Given the description of an element on the screen output the (x, y) to click on. 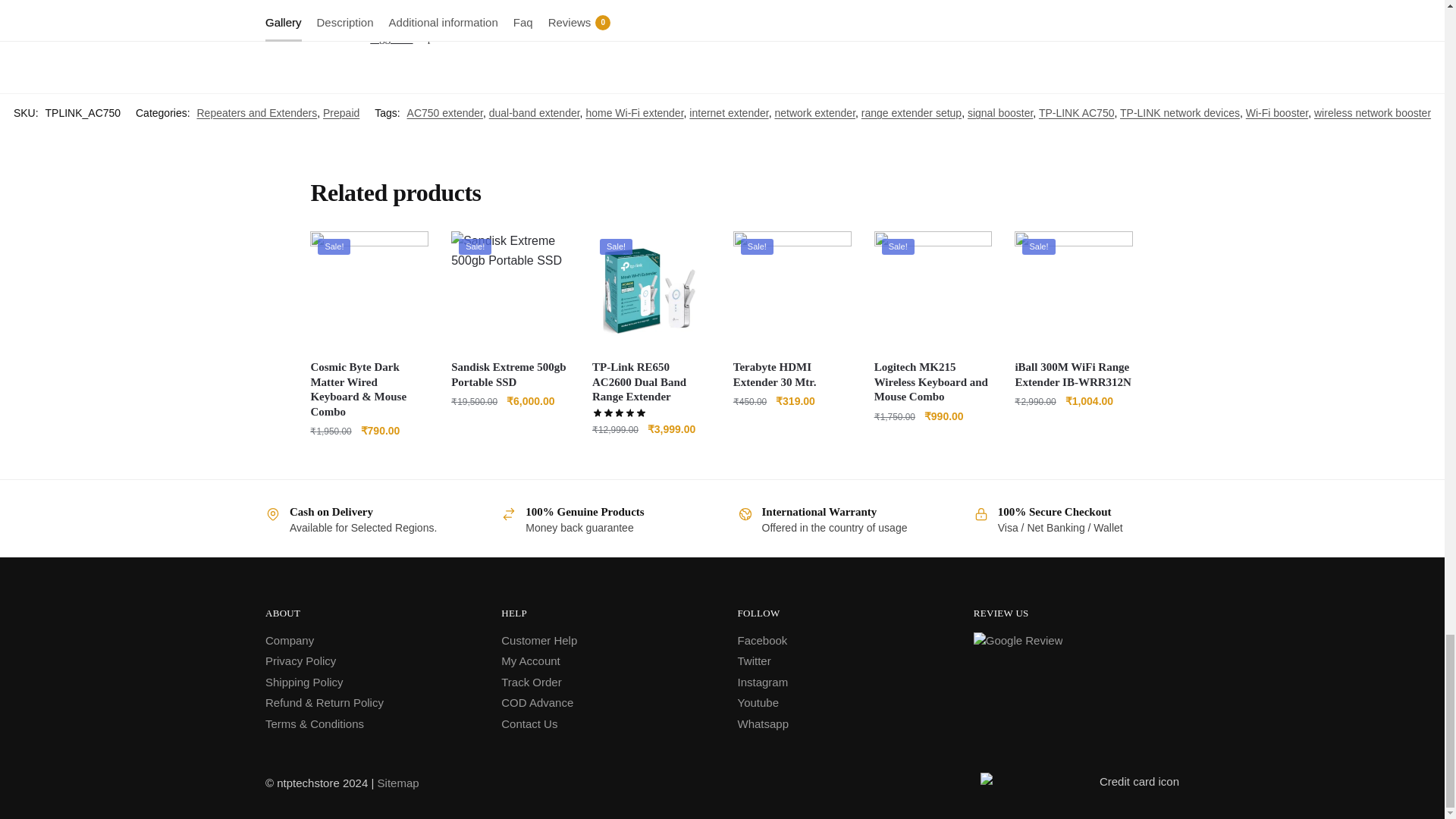
iBall 300M WiFi Range Extender IB-WRR312N (1073, 289)
Logitech MK215 Wireless Keyboard and Mouse Combo (933, 289)
TP-Link RE650 AC2600 Dual Band Range Extender (651, 289)
Terabyte HDMI Extender 30 Mtr. (792, 289)
Credit Card (1079, 783)
Sandisk Extreme 500gb Portable SSD (510, 289)
